Given the description of an element on the screen output the (x, y) to click on. 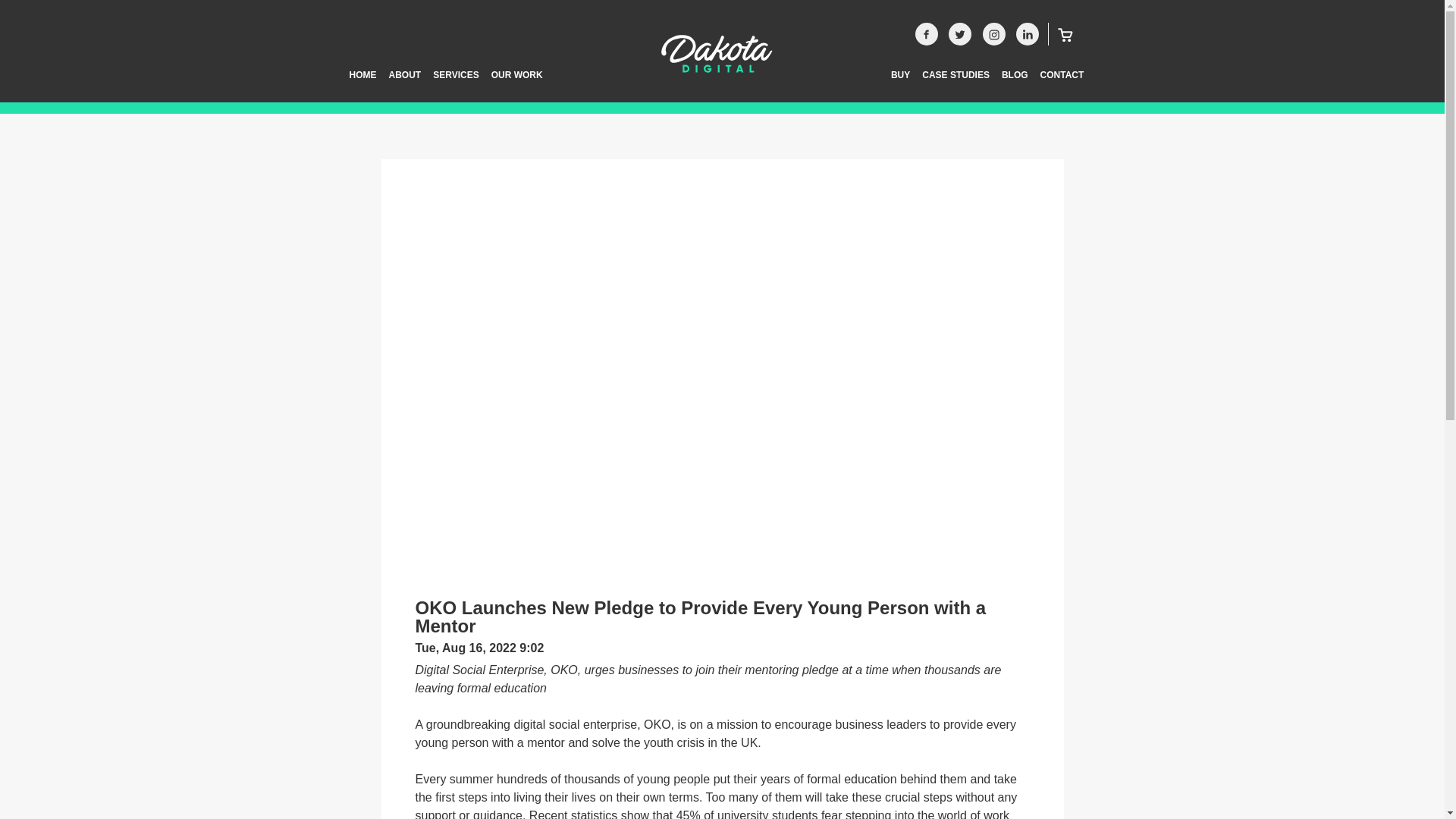
ABOUT (403, 83)
OUR WORK (516, 83)
HOME (361, 83)
Checkout (1060, 33)
SERVICES (455, 83)
